Given the description of an element on the screen output the (x, y) to click on. 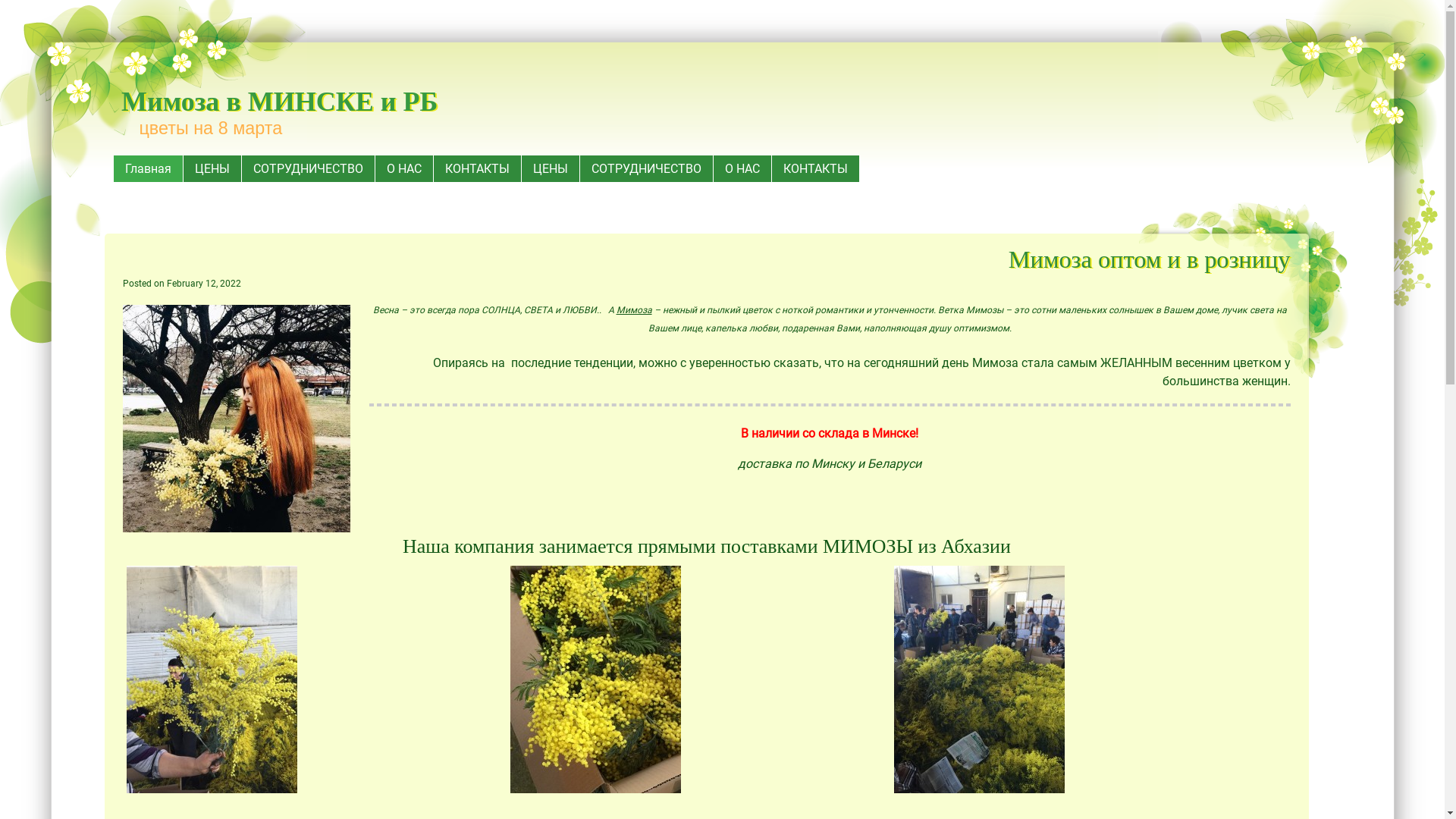
Skip to content Element type: text (158, 165)
